Given the description of an element on the screen output the (x, y) to click on. 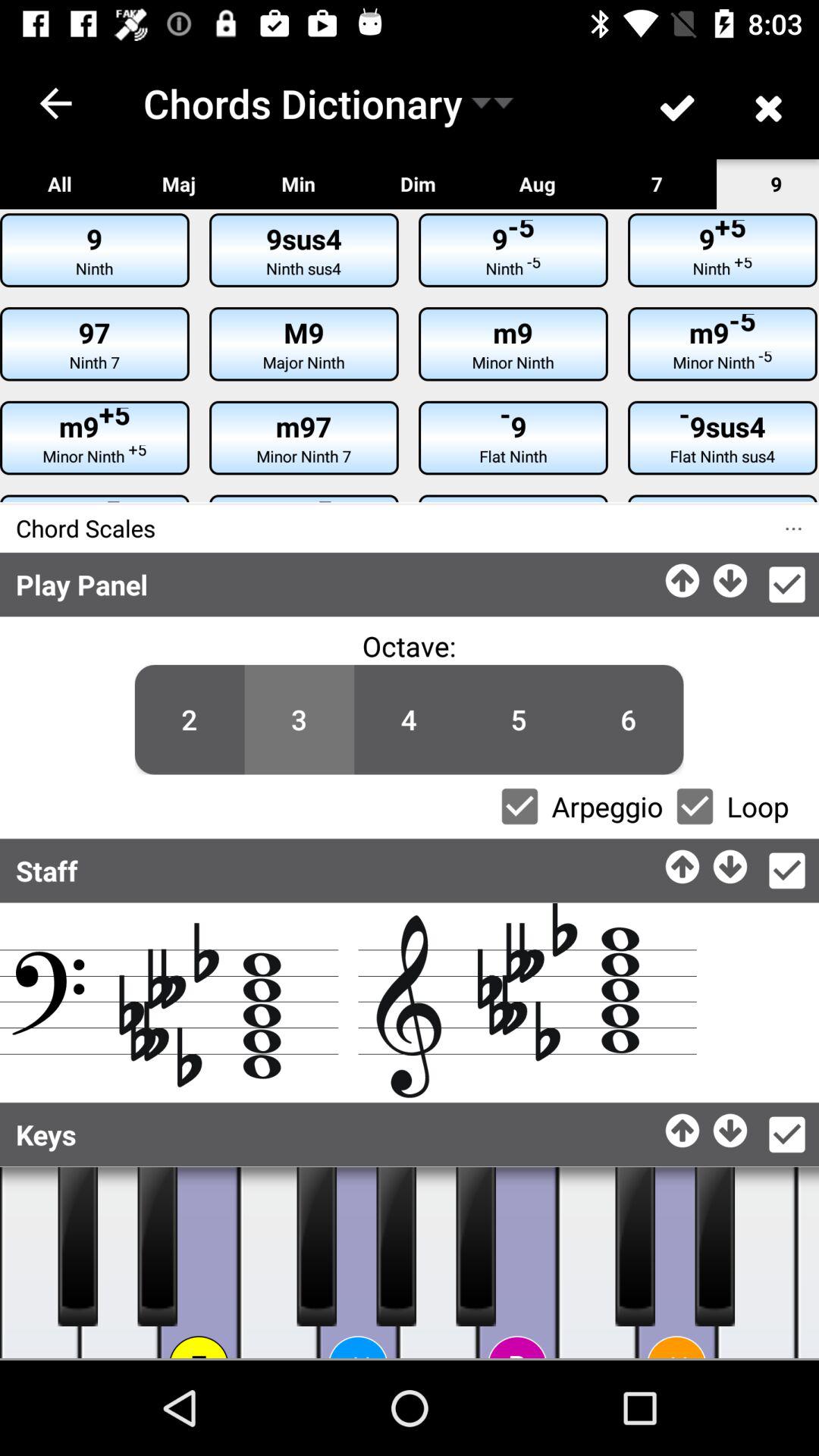
appapload (683, 1126)
